Given the description of an element on the screen output the (x, y) to click on. 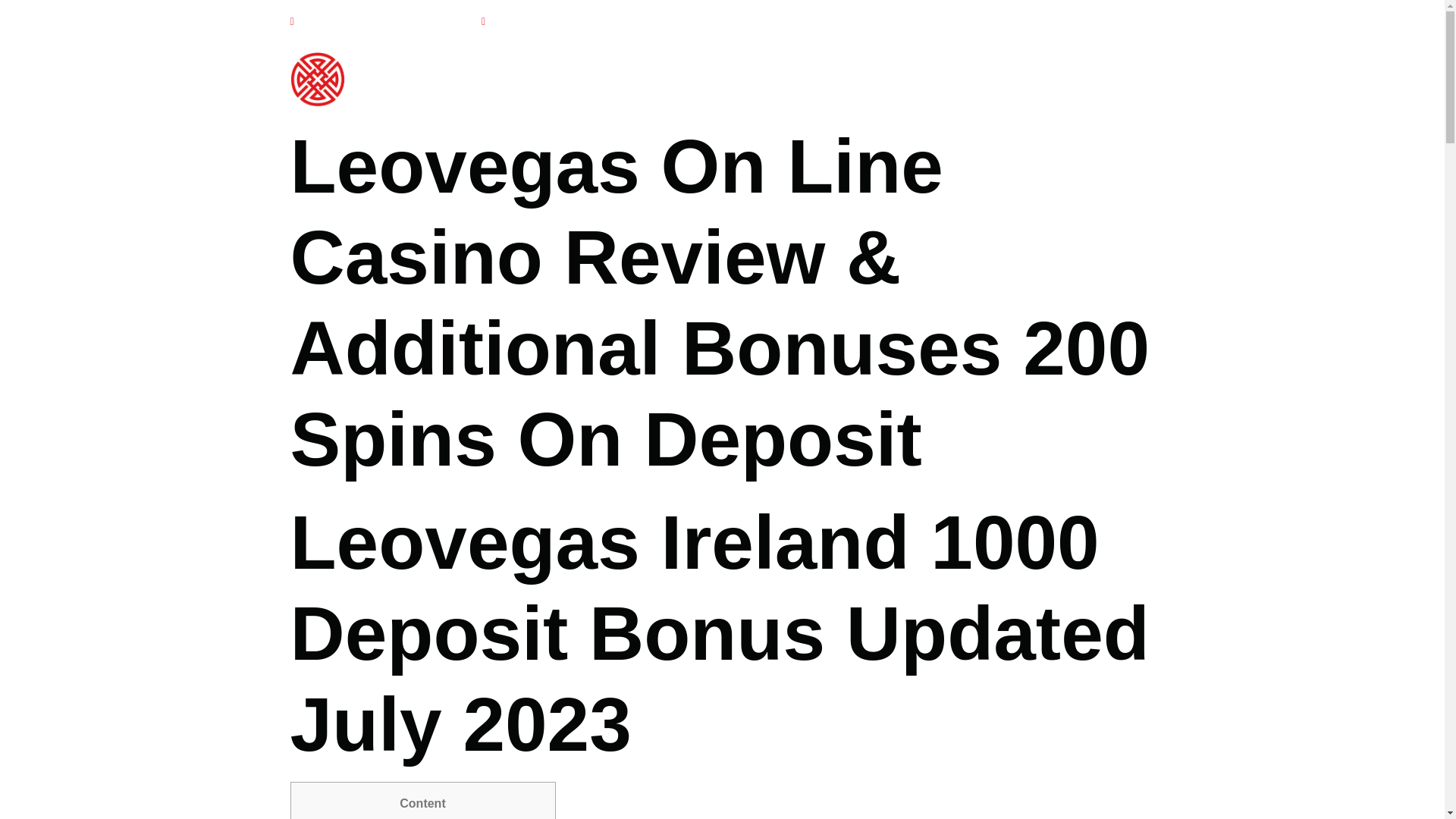
INVESTORS (884, 79)
CONTACT US (1101, 79)
ABOUT US (789, 79)
SELF-CERTIFY (990, 79)
HOME (711, 79)
